Given the description of an element on the screen output the (x, y) to click on. 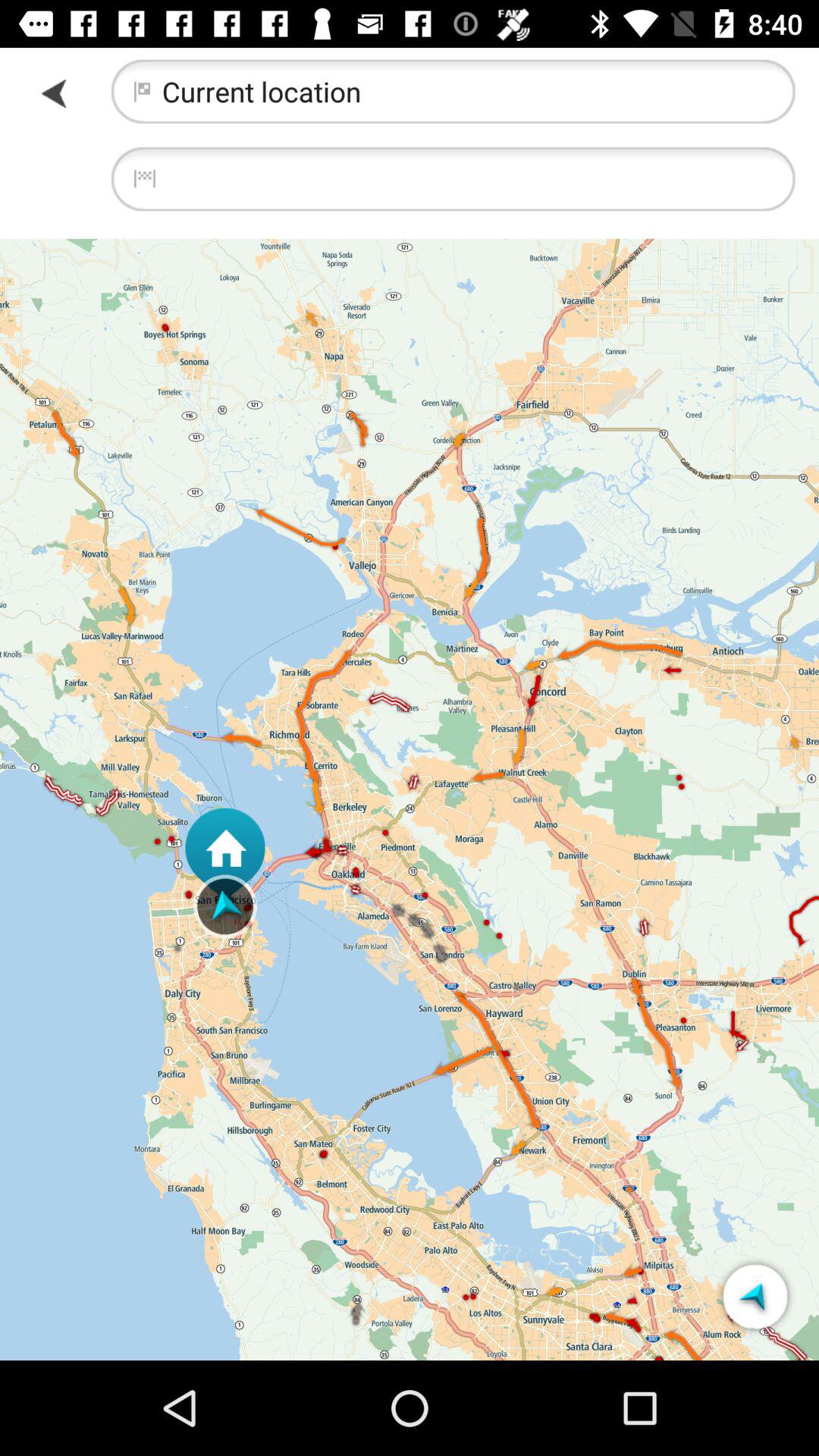
turn off icon to the left of current location item (55, 92)
